Given the description of an element on the screen output the (x, y) to click on. 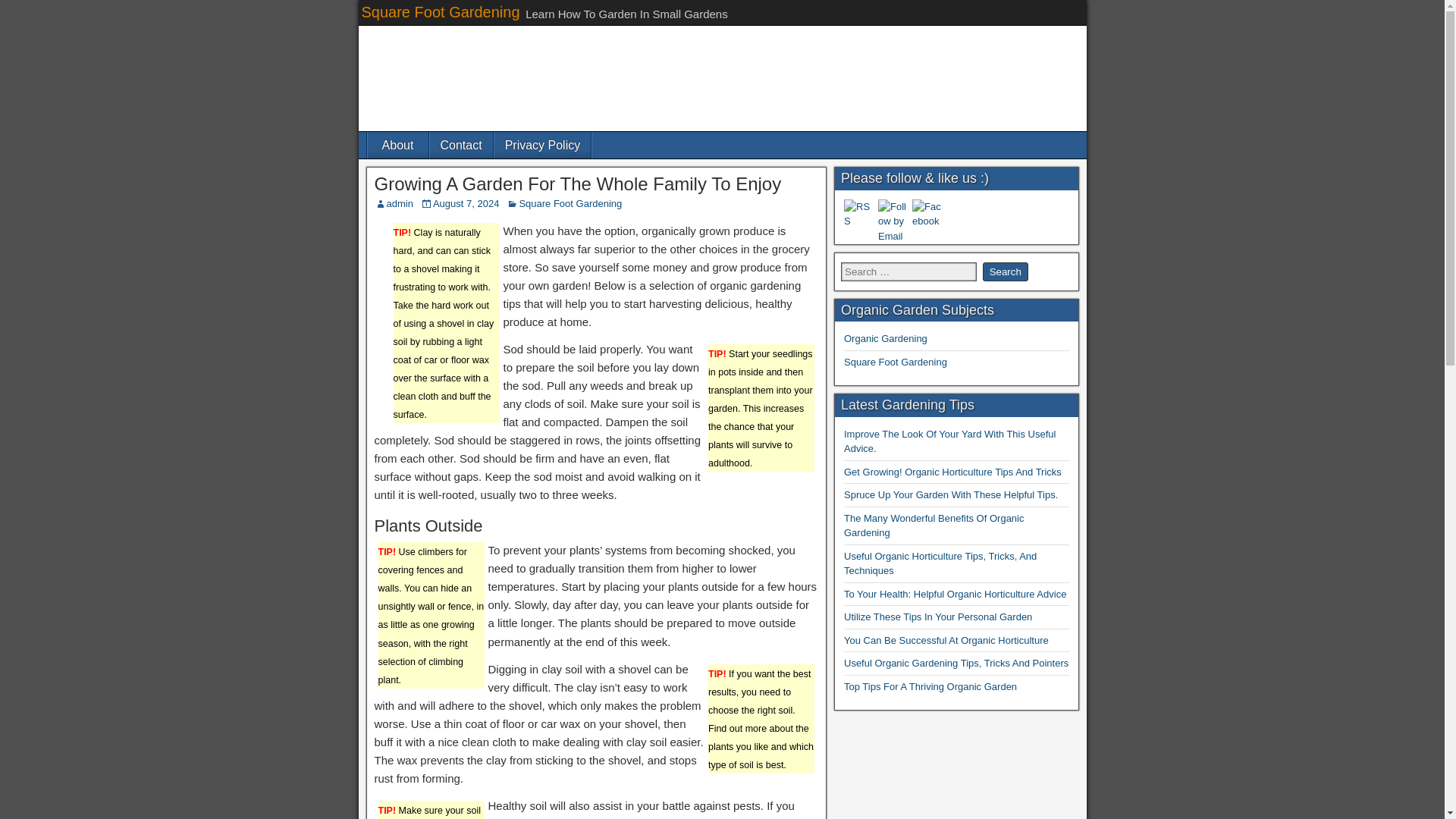
To Your Health: Helpful Organic Horticulture Advice (954, 593)
August 7, 2024 (465, 203)
Search (1004, 271)
Useful Organic Horticulture Tips, Tricks, And Techniques (940, 563)
Square Foot Gardening (895, 361)
Square Foot Gardening (440, 12)
About (397, 144)
You Can Be Successful At Organic Horticulture (946, 640)
admin (400, 203)
Search (1004, 271)
